Given the description of an element on the screen output the (x, y) to click on. 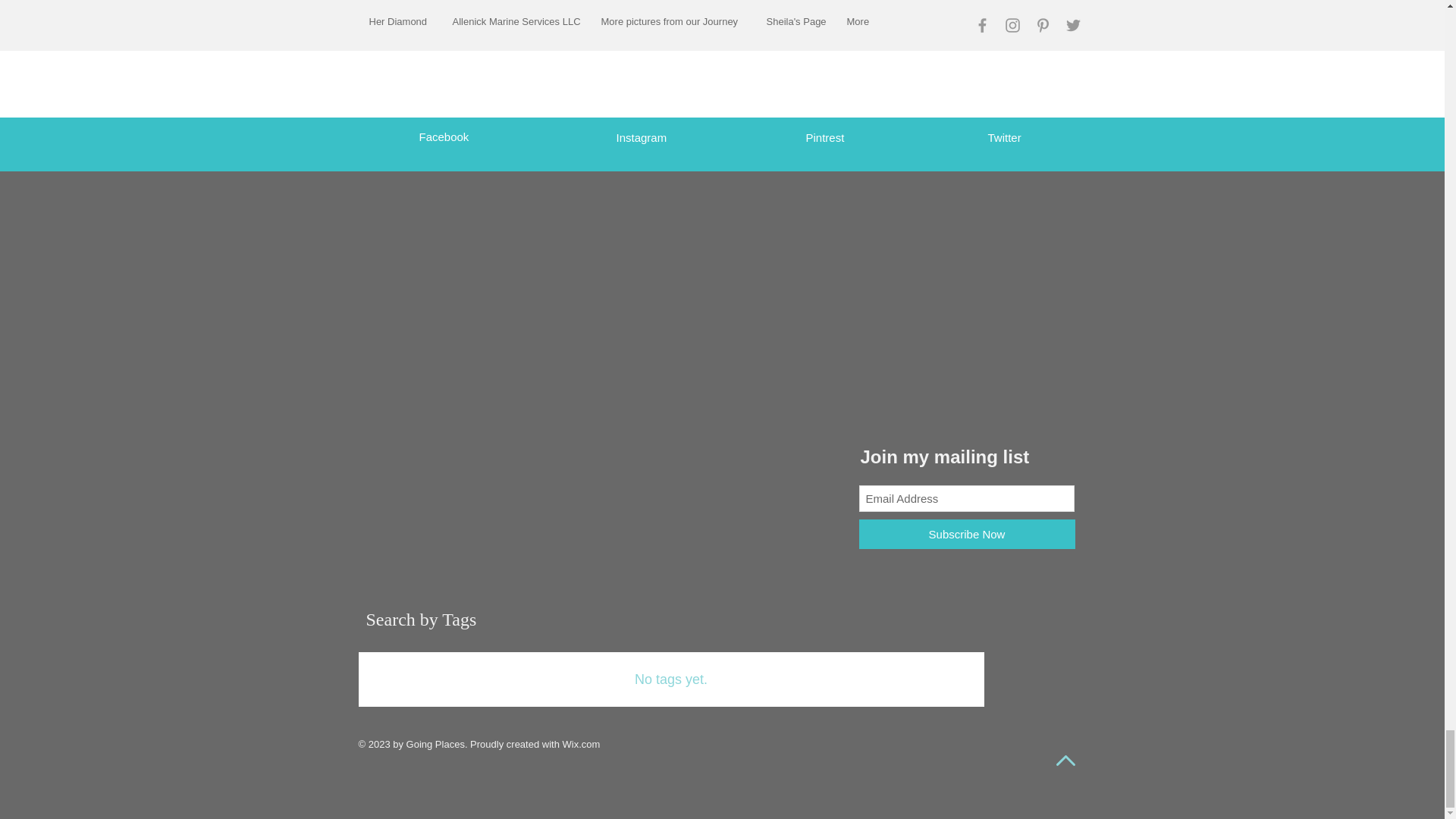
Facebook (443, 136)
Twitter (1003, 137)
Instagram (640, 137)
Pintrest (824, 137)
Wix.com (580, 744)
Subscribe Now (966, 533)
